Given the description of an element on the screen output the (x, y) to click on. 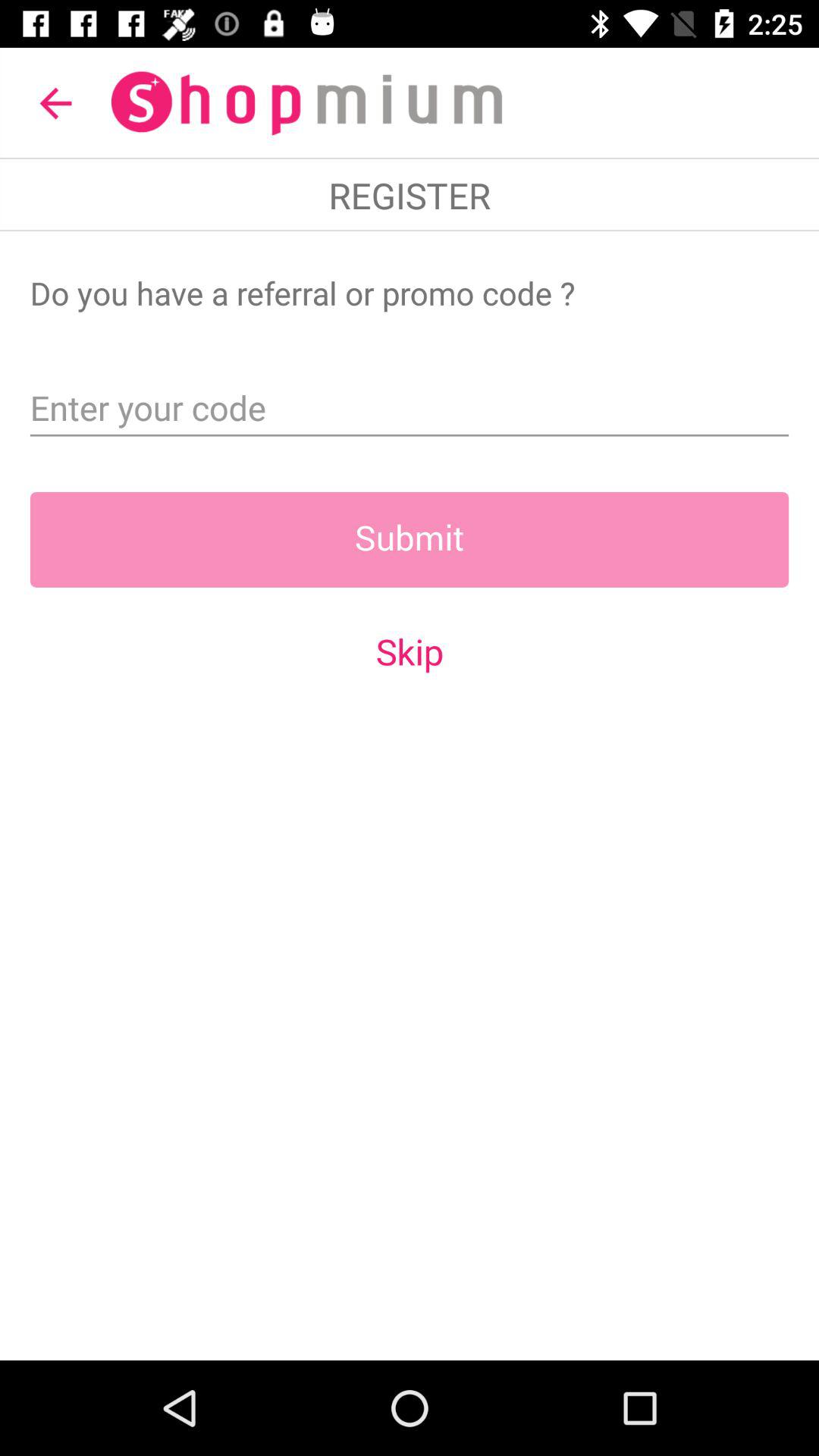
press the item above the skip item (409, 539)
